Given the description of an element on the screen output the (x, y) to click on. 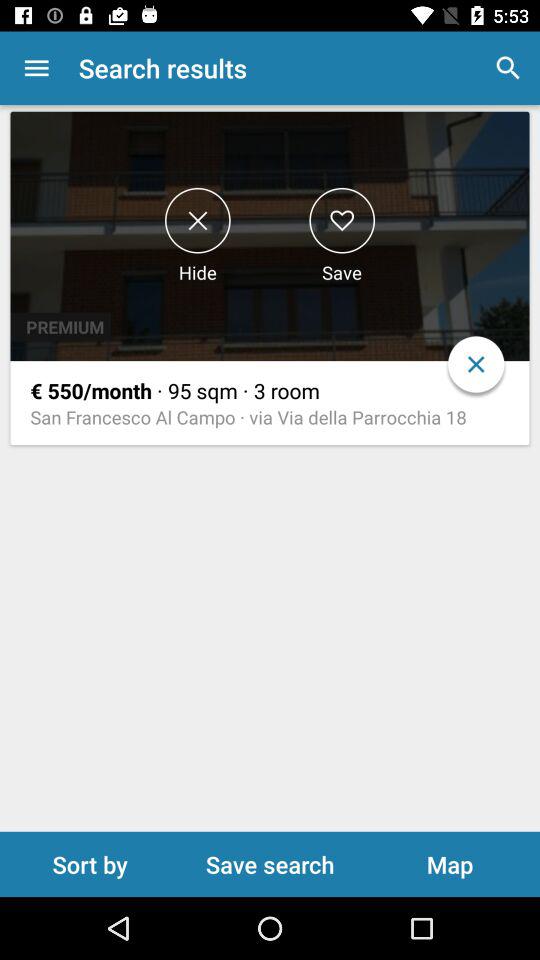
hide the current image from a search (197, 220)
